Given the description of an element on the screen output the (x, y) to click on. 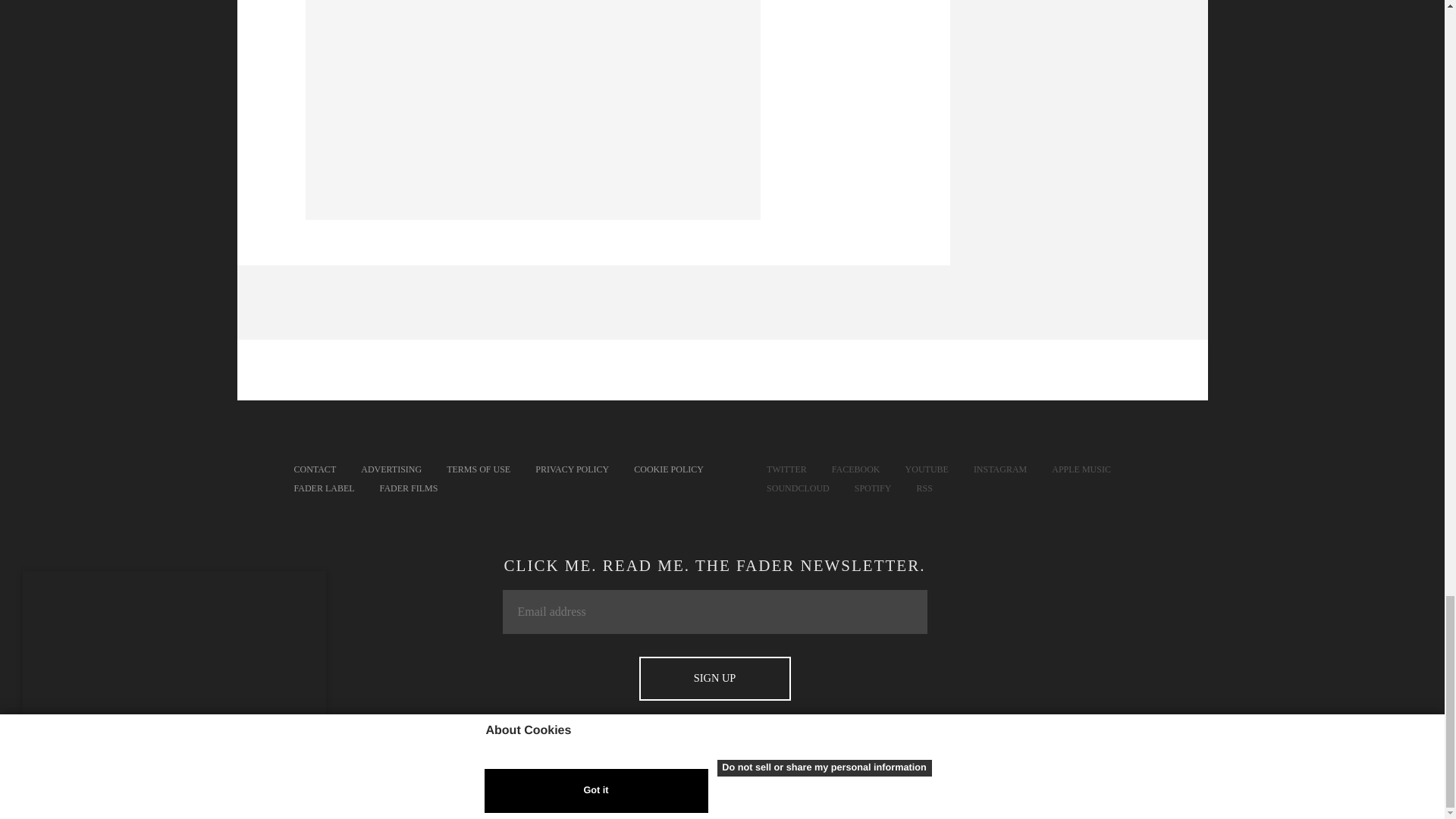
Sign Up (714, 678)
